Given the description of an element on the screen output the (x, y) to click on. 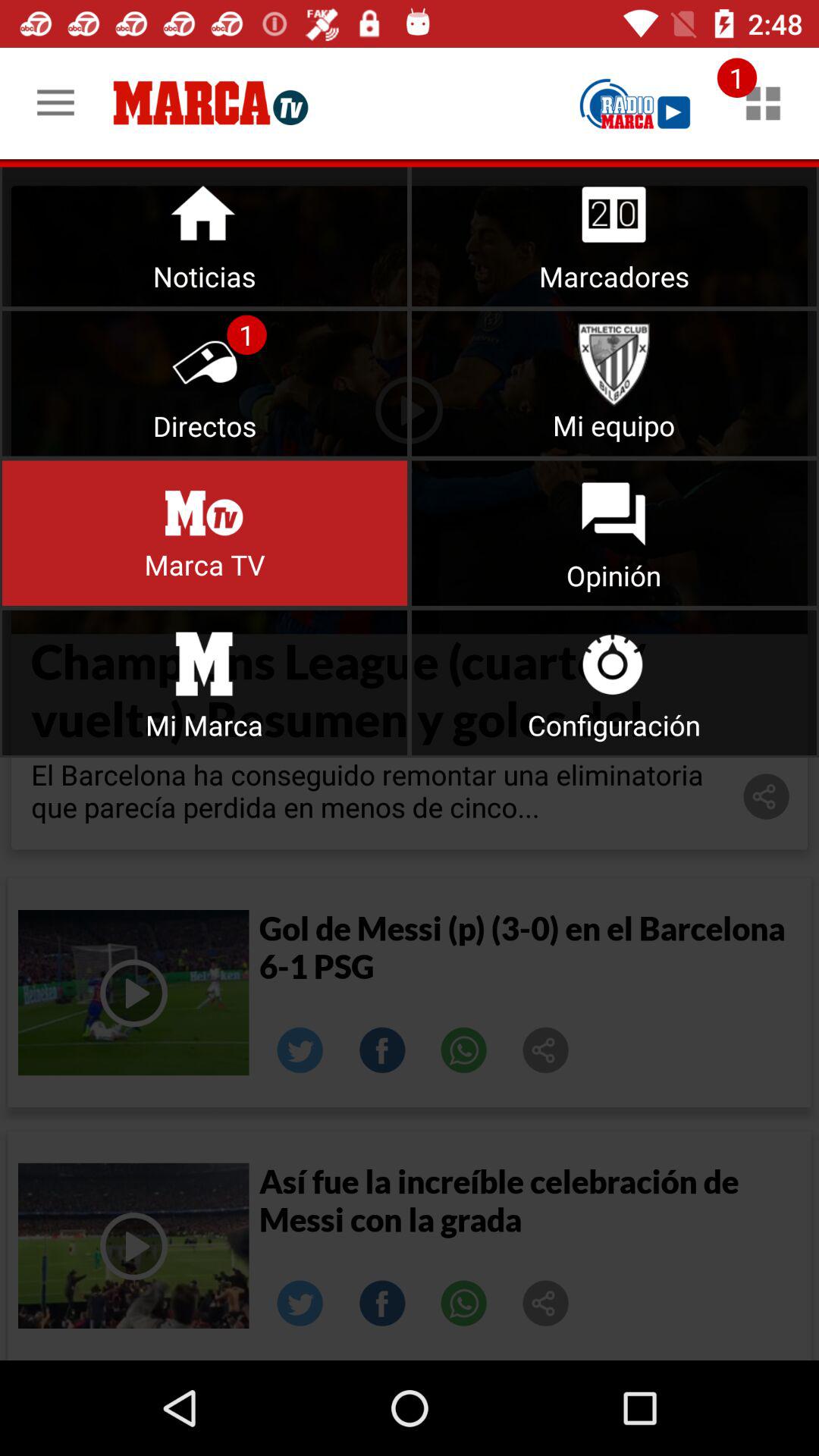
settings (614, 682)
